Given the description of an element on the screen output the (x, y) to click on. 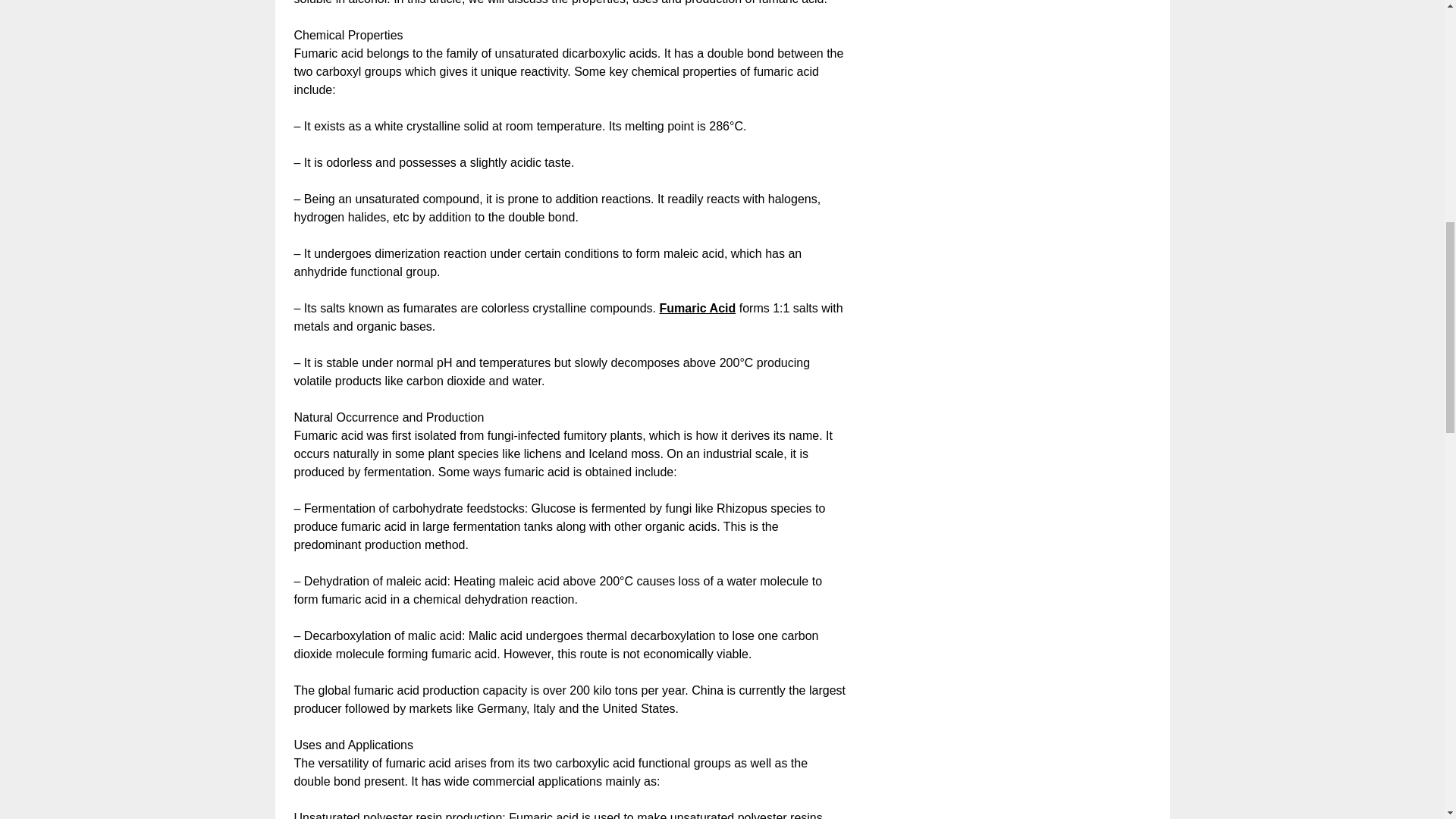
Fumaric Acid (697, 308)
